Given the description of an element on the screen output the (x, y) to click on. 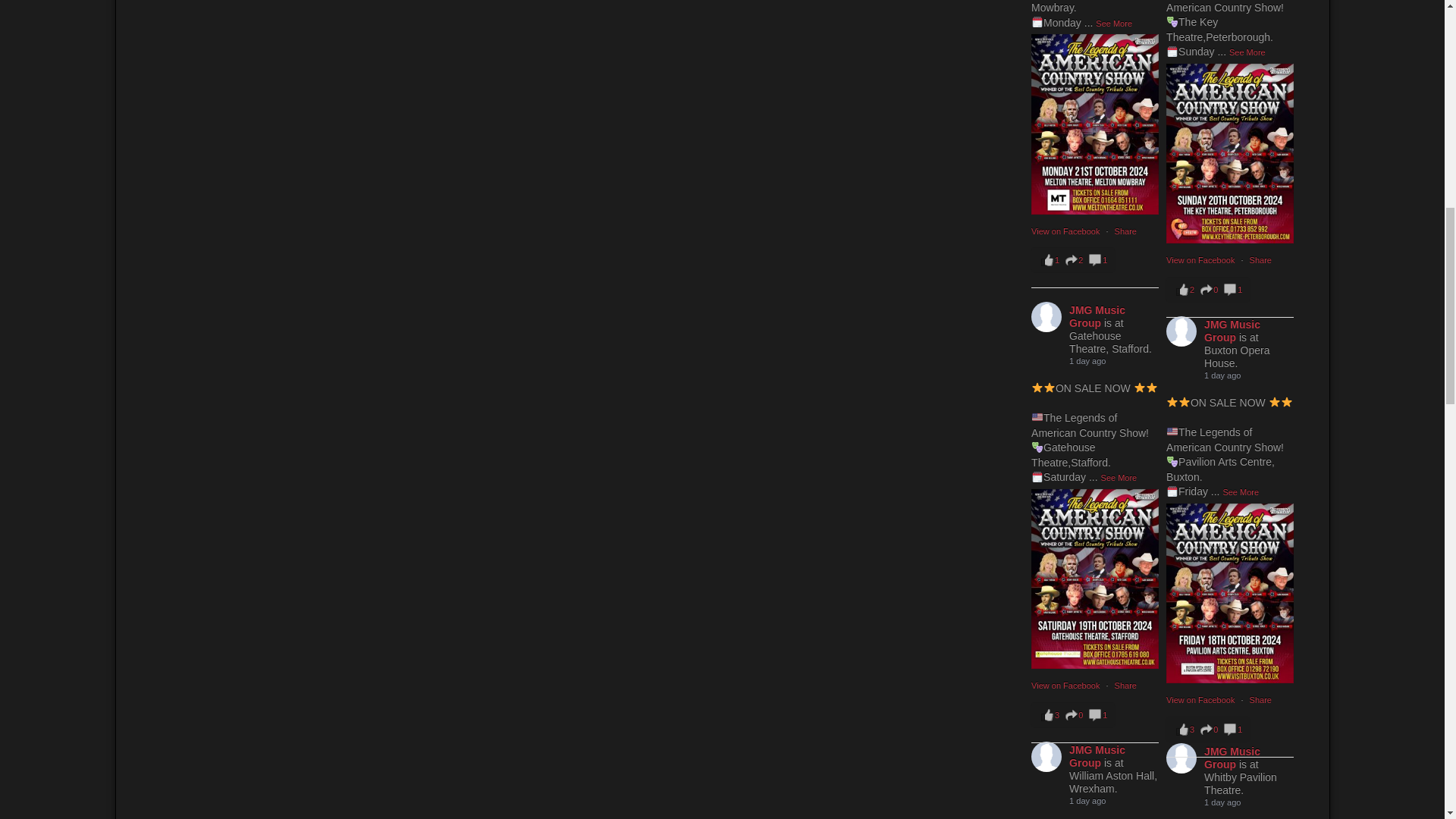
View on Facebook (1201, 259)
View on Facebook (1066, 685)
View on Facebook (1201, 699)
View on Facebook (1066, 230)
Share (1126, 685)
Share (1260, 699)
Share (1126, 230)
Share (1260, 259)
